Given the description of an element on the screen output the (x, y) to click on. 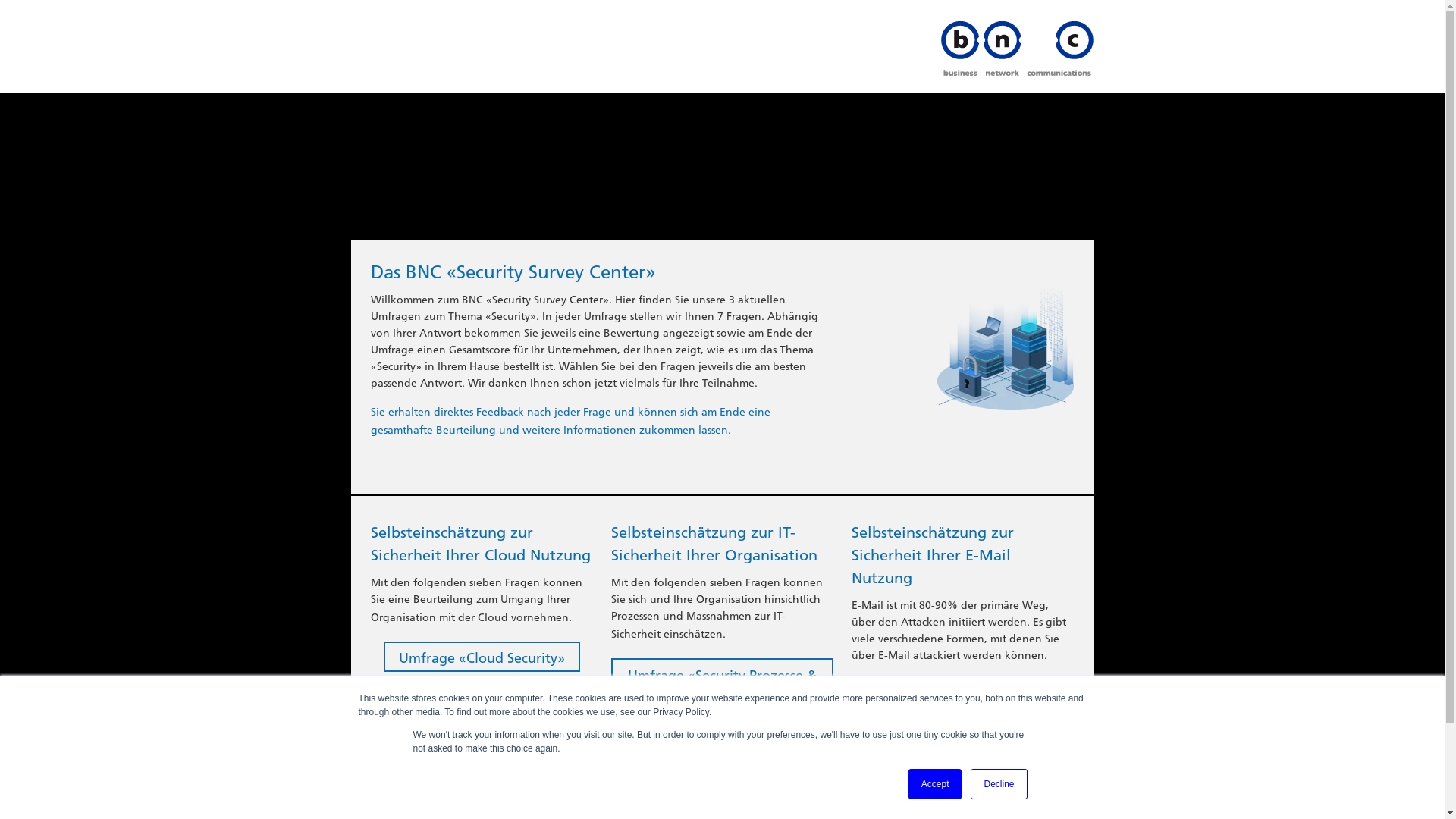
Accept Element type: text (935, 783)
Decline Element type: text (998, 783)
Home Element type: hover (1016, 48)
55660b1a90540d8aa95f1e8935fdc261f7b6c592 Element type: hover (1005, 336)
